Given the description of an element on the screen output the (x, y) to click on. 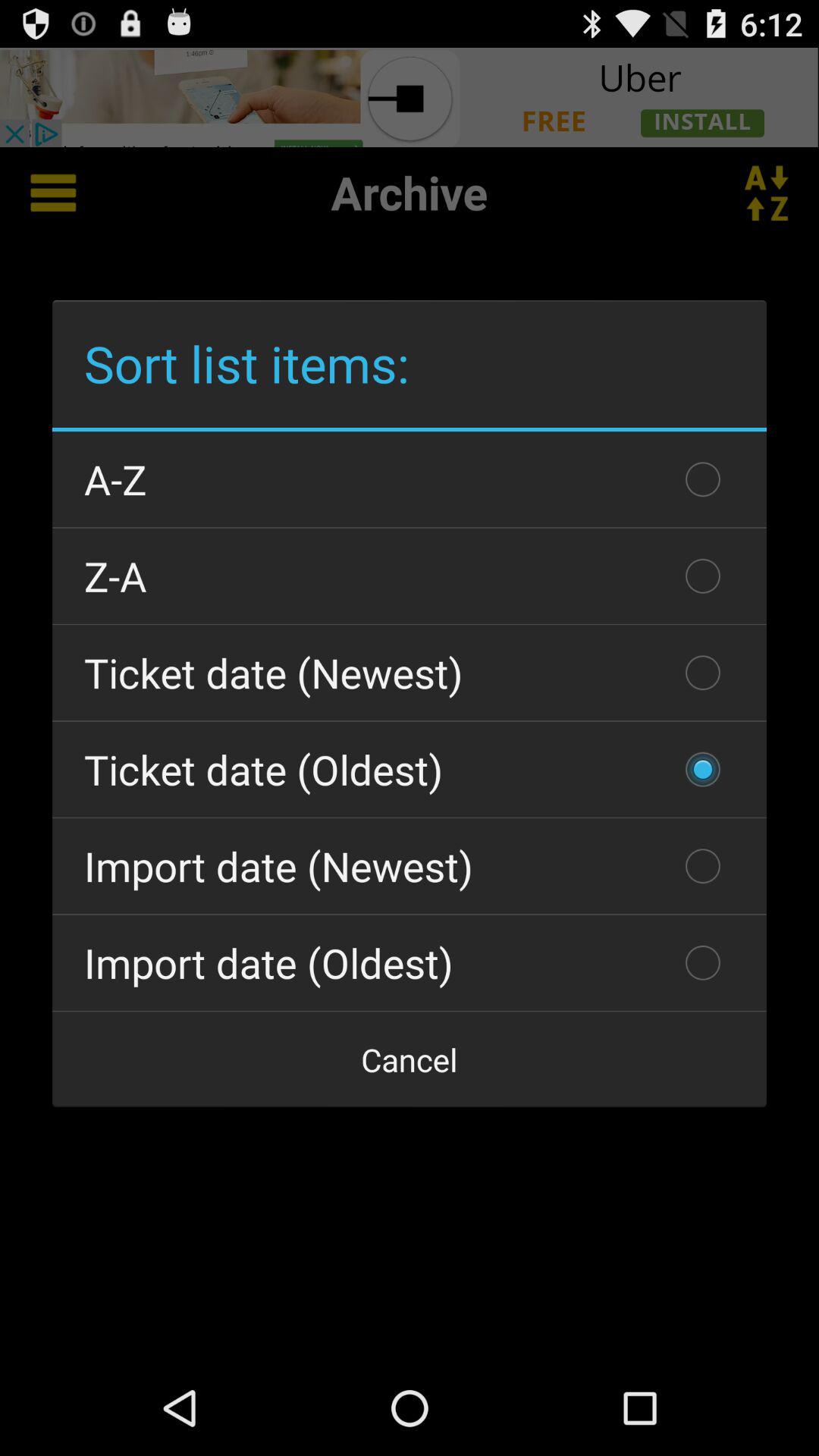
press item at the bottom (409, 1059)
